Given the description of an element on the screen output the (x, y) to click on. 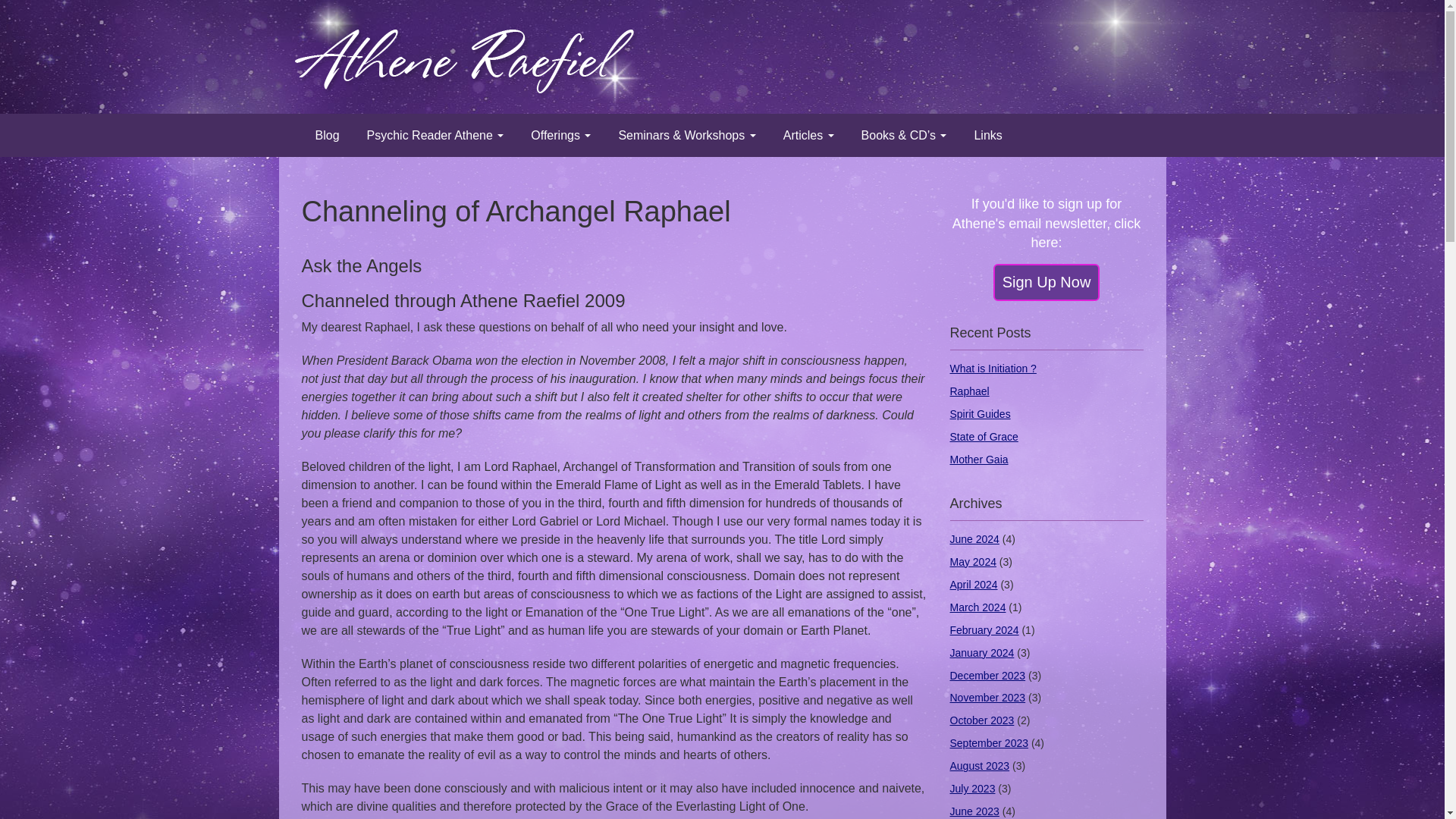
Athene Raefiel (462, 11)
December 2023 (987, 674)
Links (986, 135)
State of Grace (983, 436)
Offerings (560, 135)
Spirit Guides (979, 413)
Raphael (968, 390)
March 2024 (977, 607)
Offerings (560, 135)
October 2023 (981, 720)
Psychic Reader Athene (435, 135)
February 2024 (983, 630)
Mother Gaia (978, 459)
April 2024 (973, 584)
Blog (327, 135)
